Given the description of an element on the screen output the (x, y) to click on. 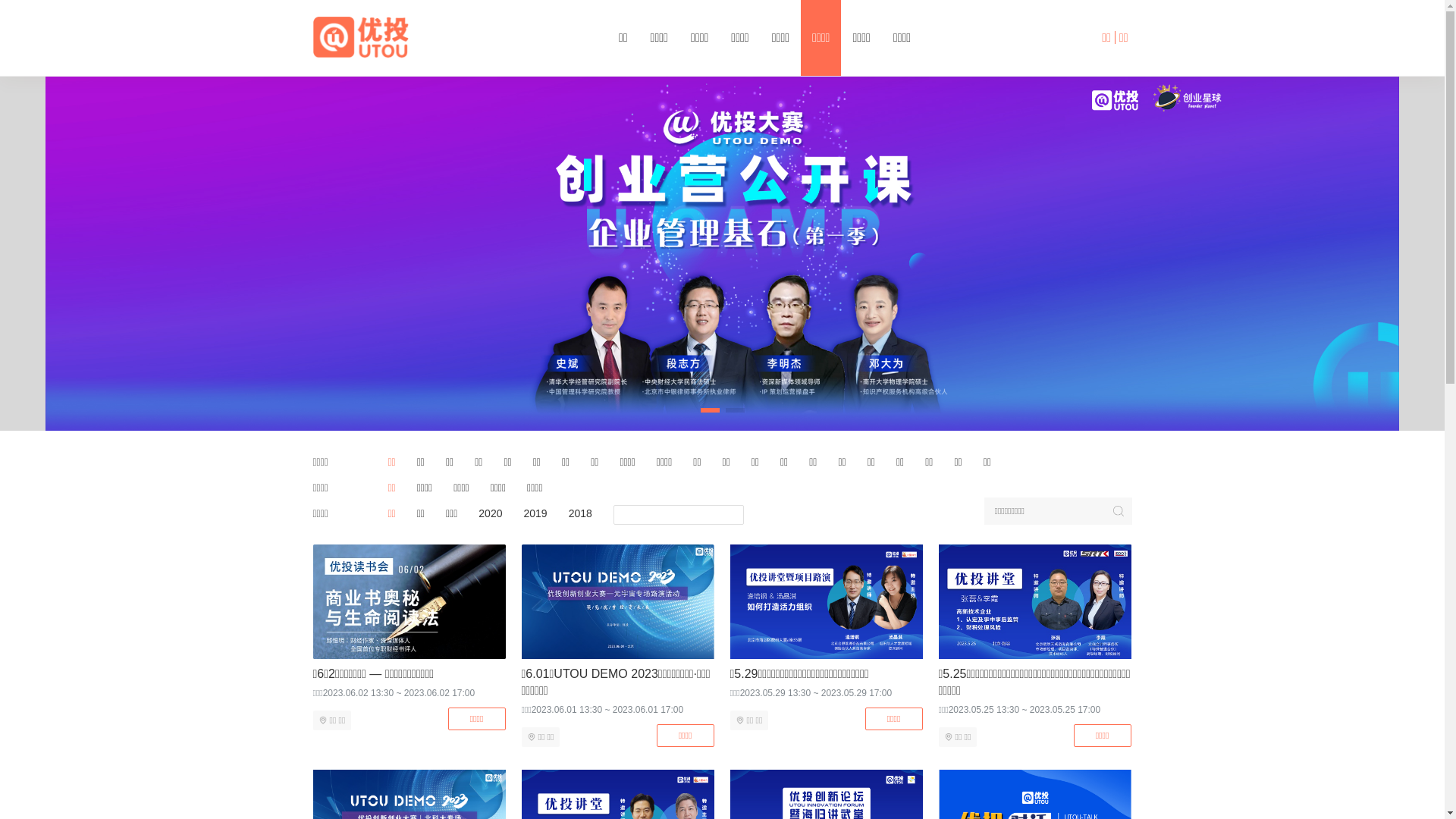
2018 Element type: text (580, 513)
2019 Element type: text (534, 513)
2020 Element type: text (490, 513)
